Given the description of an element on the screen output the (x, y) to click on. 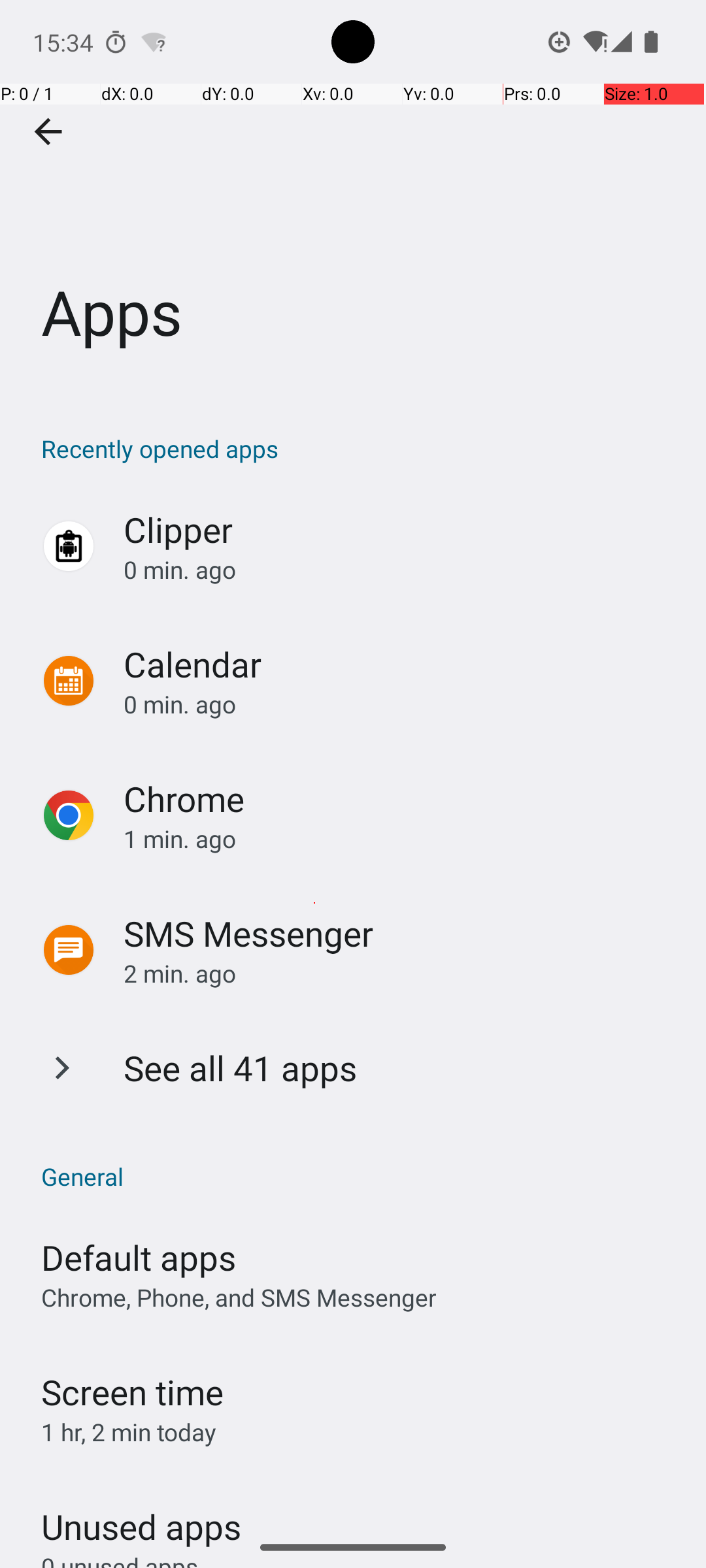
1 hr, 2 min today Element type: android.widget.TextView (129, 1431)
